Given the description of an element on the screen output the (x, y) to click on. 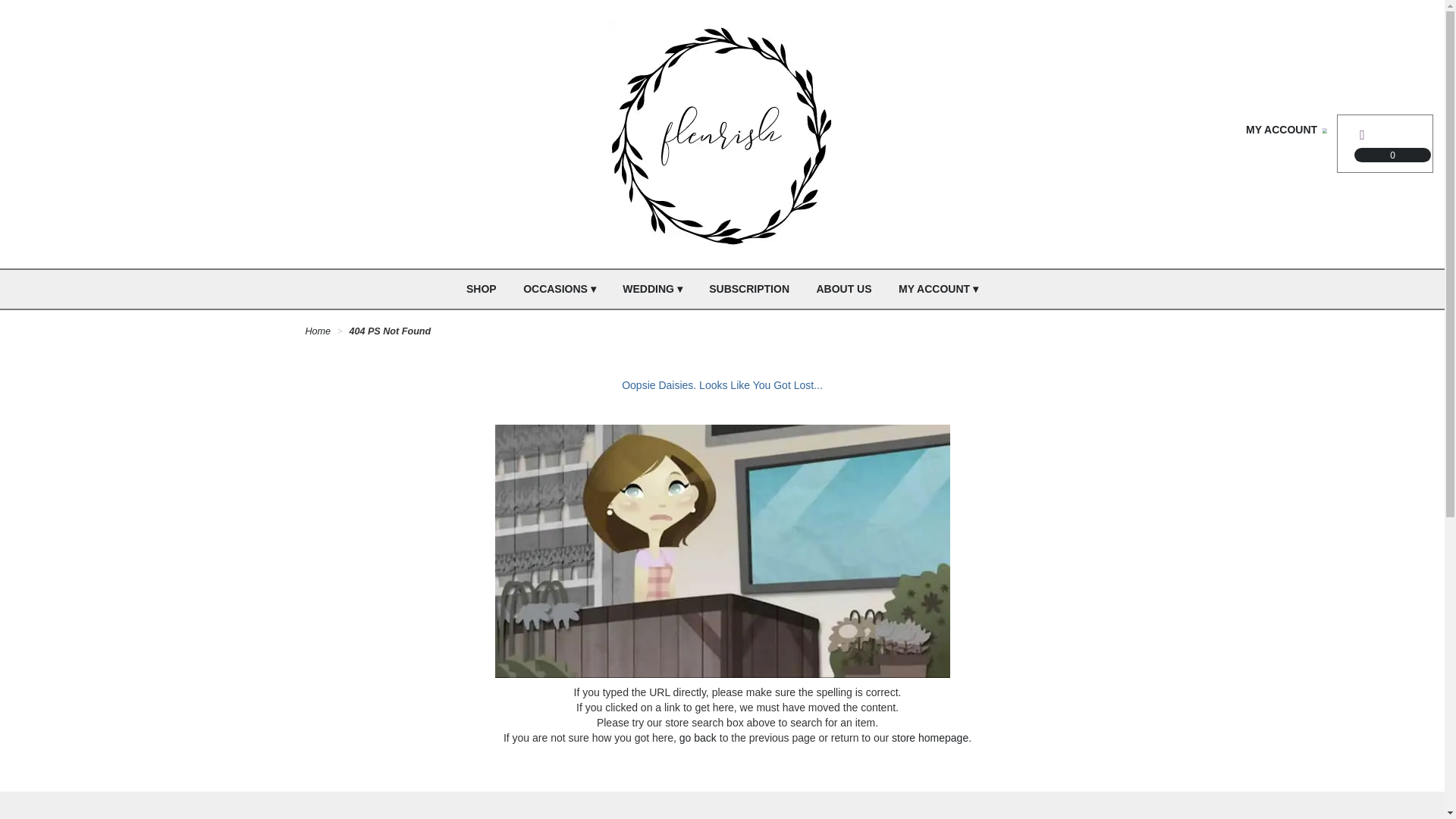
Go to Home Page (317, 330)
Sad Face (722, 551)
MY ACCOUNT (1287, 130)
SHOP (481, 289)
0 (1385, 134)
